Given the description of an element on the screen output the (x, y) to click on. 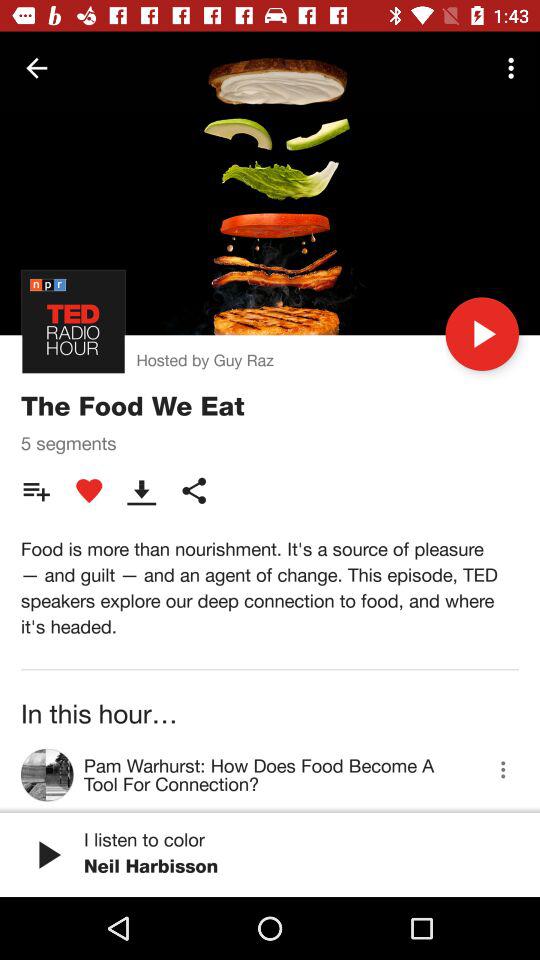
press food is more icon (270, 587)
